Given the description of an element on the screen output the (x, y) to click on. 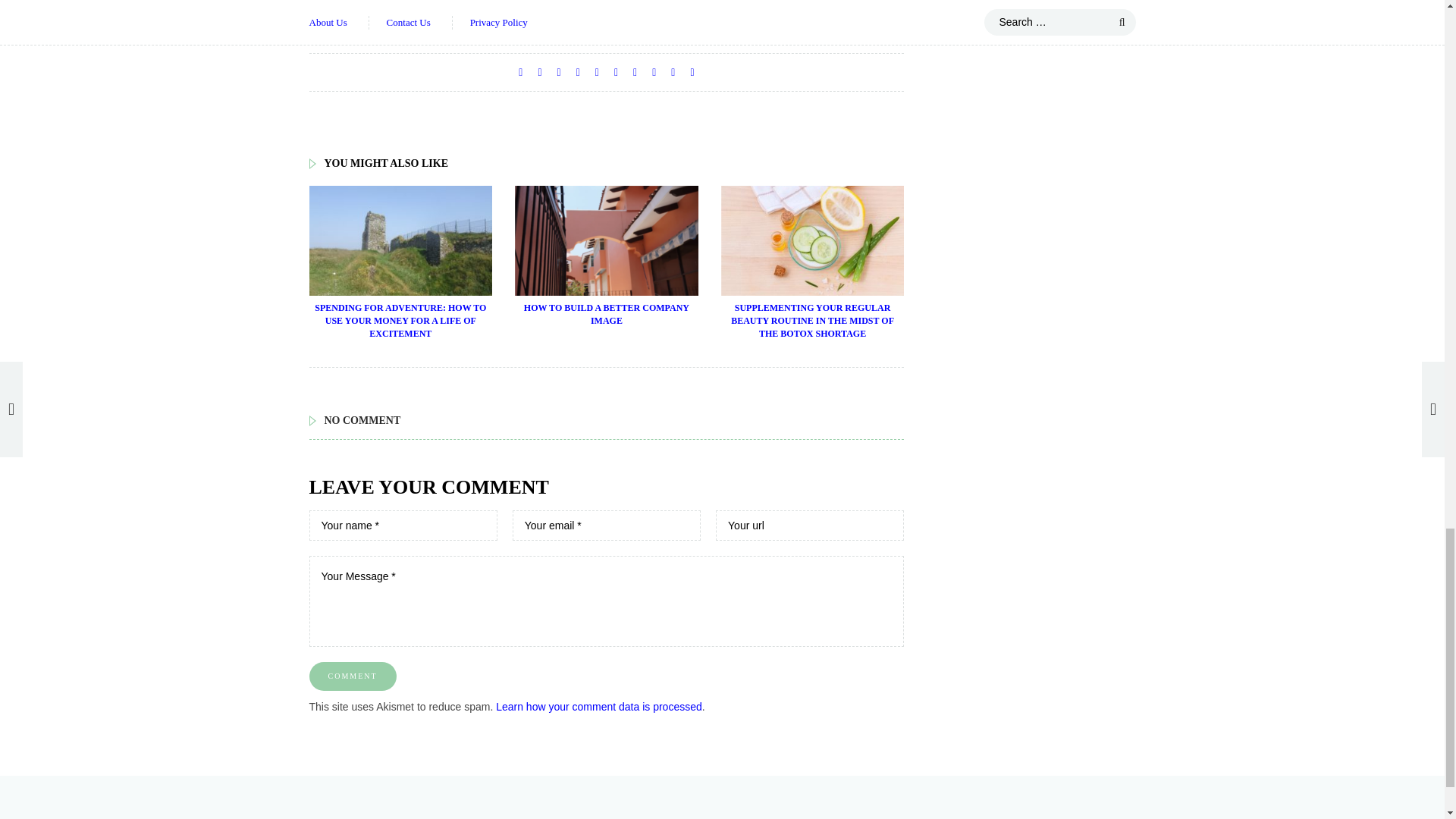
Twitter (539, 72)
Share to Twitter (538, 71)
new dark (635, 1)
Comment (352, 676)
Share to Google Plus (559, 71)
Share to Facebook (520, 71)
Share to Reddit (597, 71)
let the right one in (553, 1)
Facebook (520, 72)
30 days of night (352, 1)
vampire (334, 18)
from dusk till dawn (450, 1)
